Given the description of an element on the screen output the (x, y) to click on. 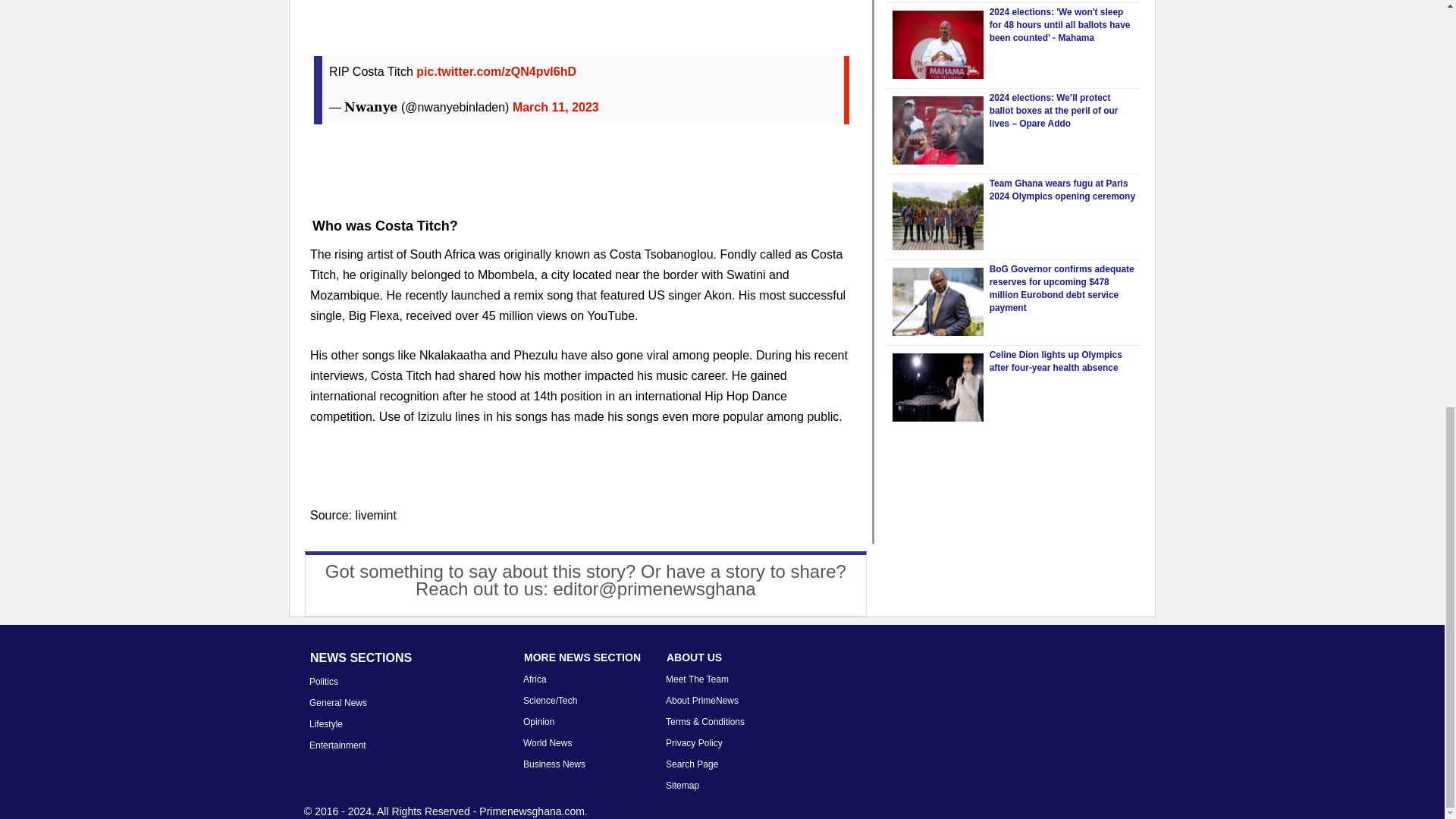
March 11, 2023 (555, 106)
Advertisement (581, 18)
